Given the description of an element on the screen output the (x, y) to click on. 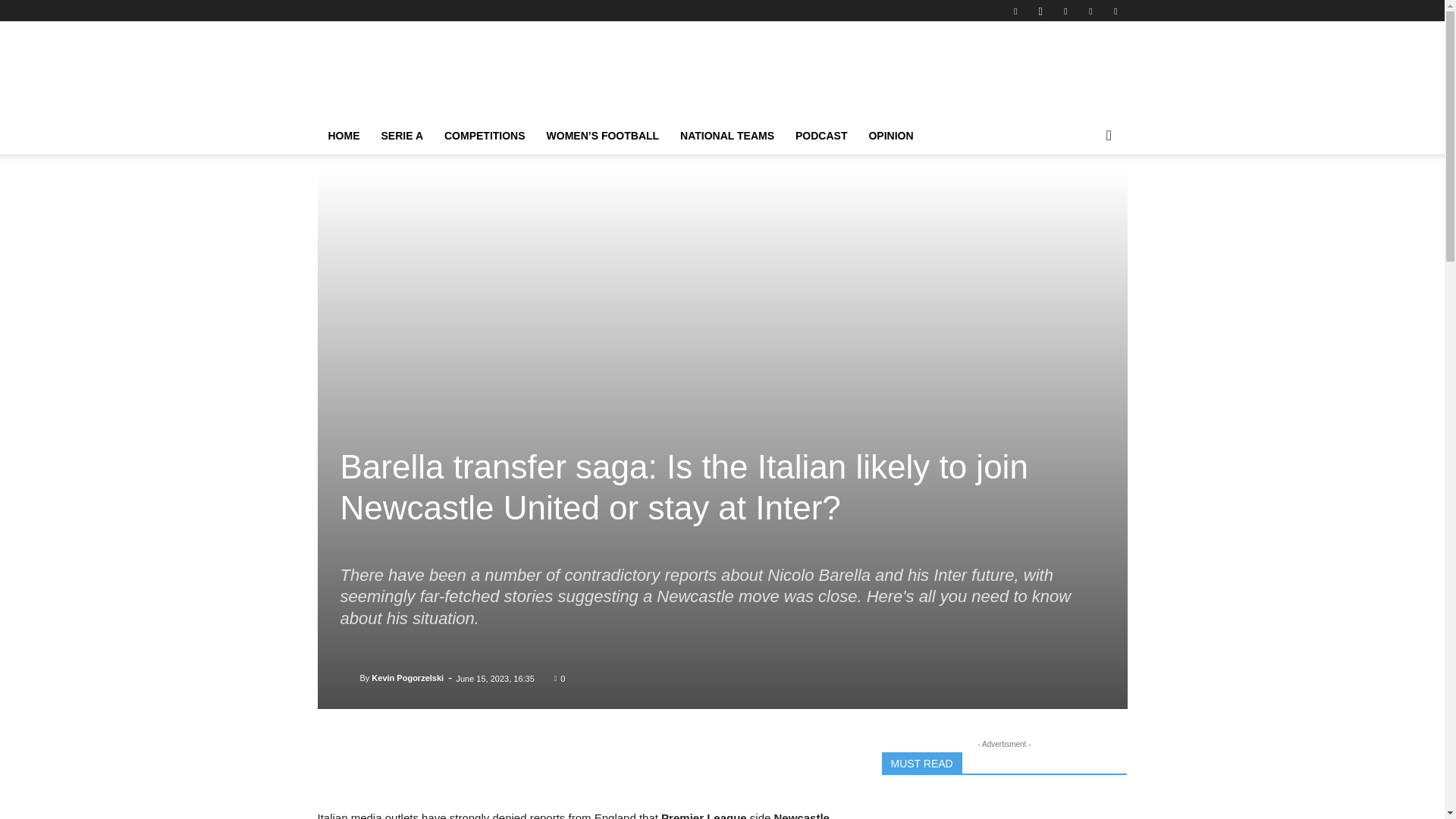
Instagram (1040, 10)
Facebook (1015, 10)
Kevin Pogorzelski (349, 677)
Mail (1065, 10)
Twitter (1114, 10)
TikTok (1090, 10)
